Given the description of an element on the screen output the (x, y) to click on. 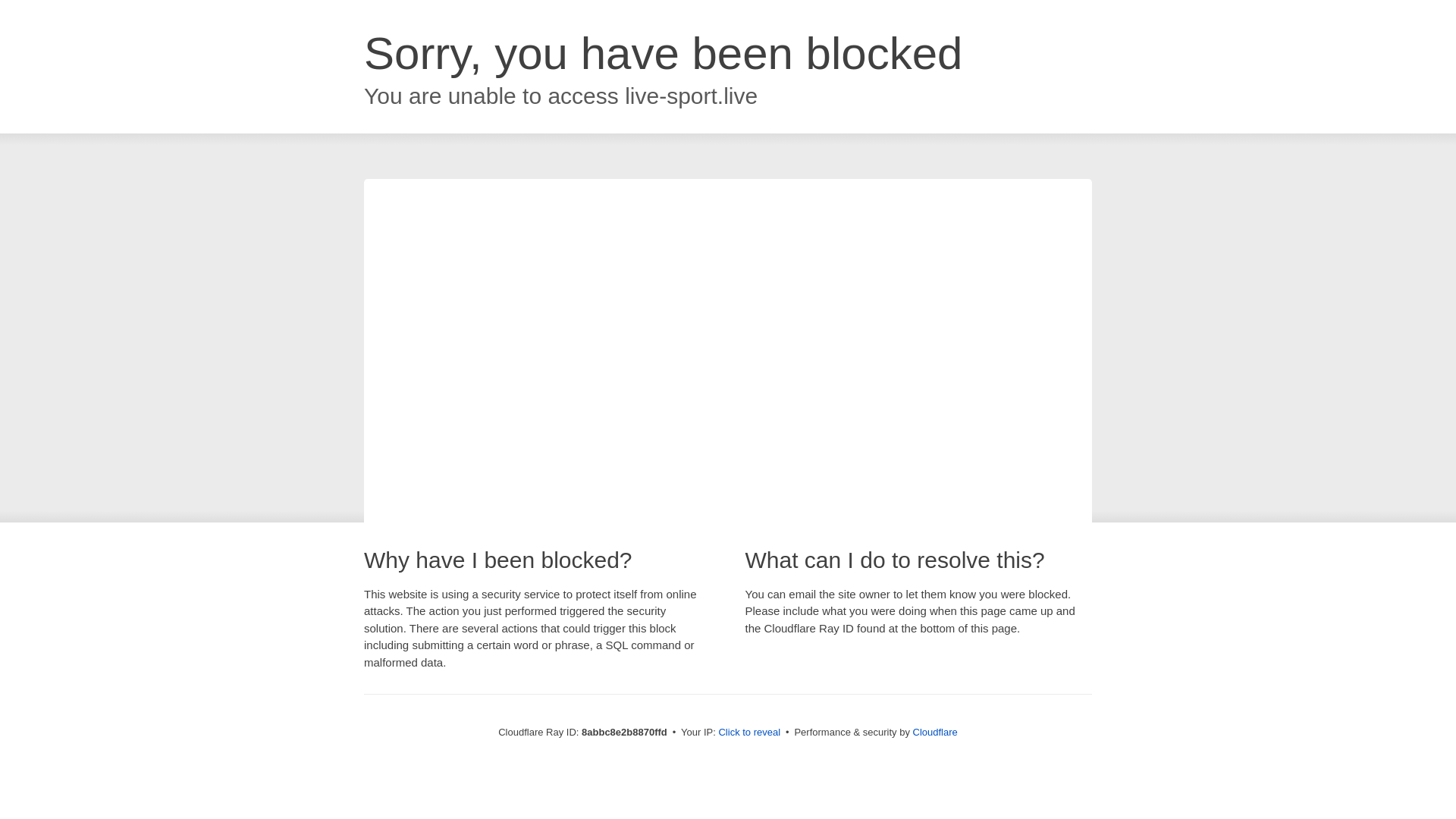
Cloudflare (935, 731)
Click to reveal (748, 732)
